Given the description of an element on the screen output the (x, y) to click on. 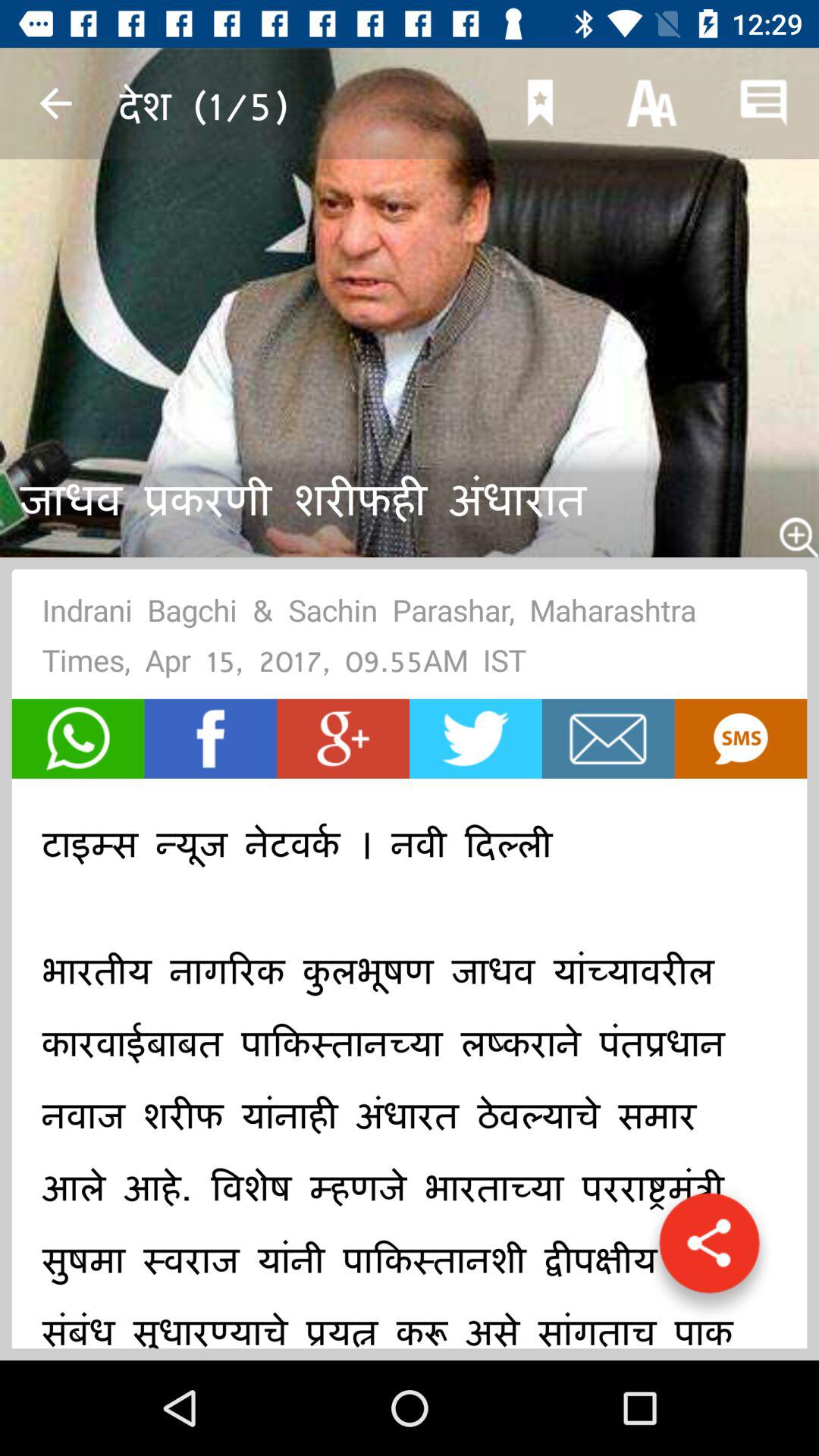
go back (55, 103)
